Given the description of an element on the screen output the (x, y) to click on. 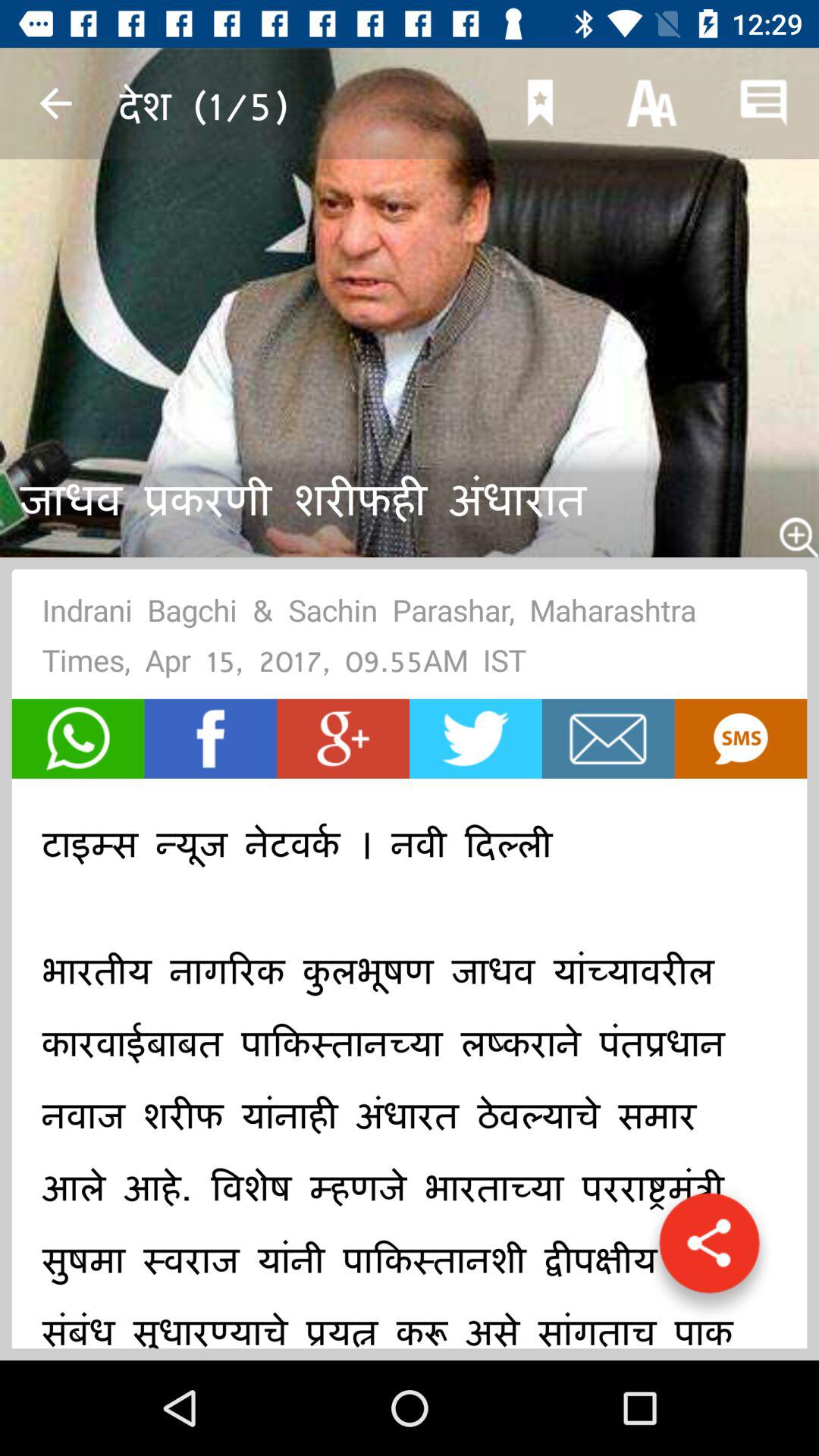
go back (55, 103)
